Given the description of an element on the screen output the (x, y) to click on. 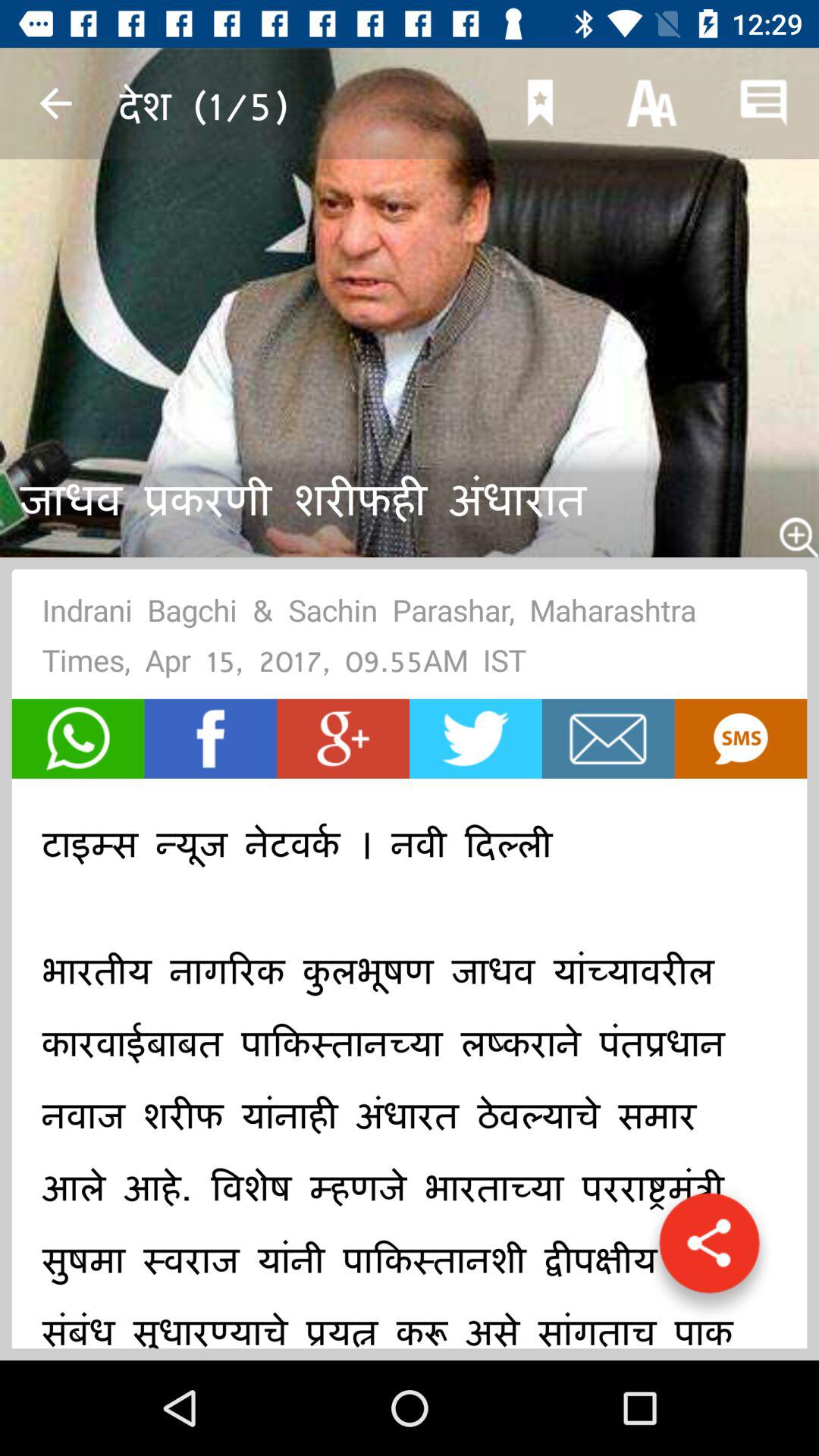
go back (55, 103)
